Given the description of an element on the screen output the (x, y) to click on. 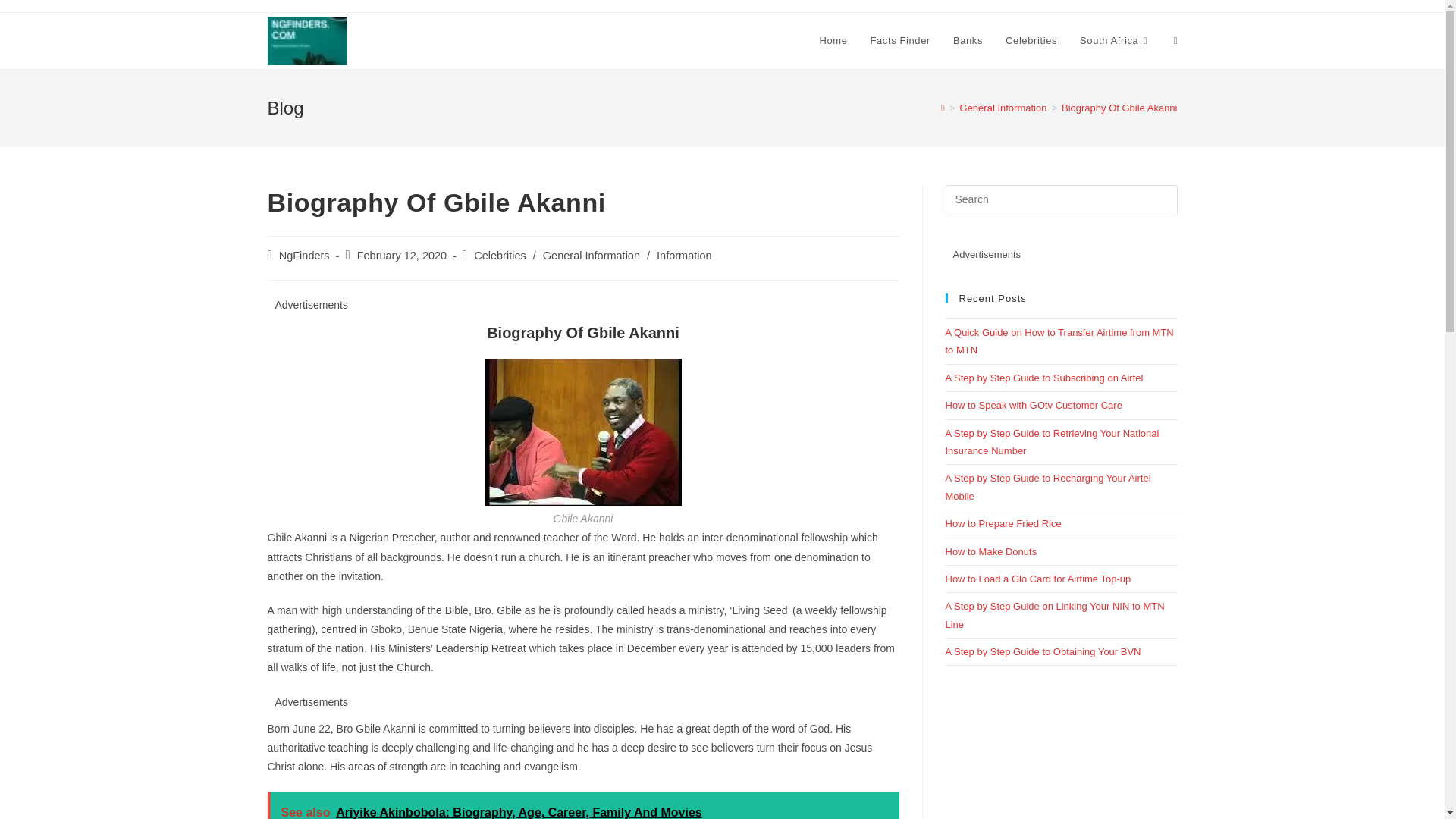
Celebrities (499, 255)
Banks (968, 40)
Posts by NgFinders (304, 255)
Information (683, 255)
General Information (591, 255)
Home (833, 40)
Facts Finder (899, 40)
General Information (1002, 107)
South Africa (1114, 40)
Celebrities (1031, 40)
NgFinders (304, 255)
Biography Of Gbile Akanni (1118, 107)
